Given the description of an element on the screen output the (x, y) to click on. 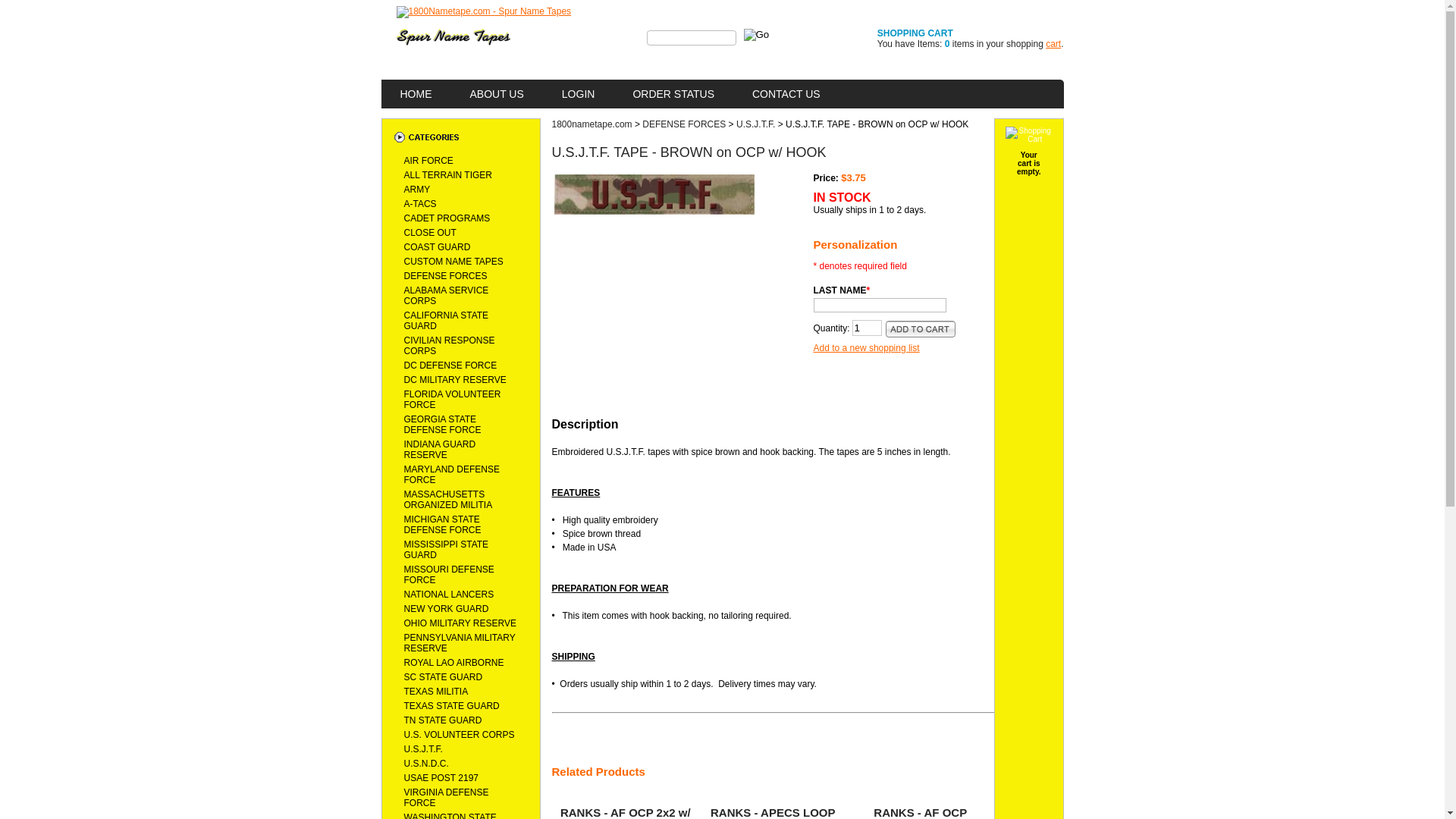
PENNSYLVANIA MILITARY RESERVE Element type: text (458, 642)
DEFENSE FORCES Element type: text (683, 123)
cart Element type: text (1052, 43)
1800Nametape.com - Spur Name Tapes Element type: hover (452, 36)
U.S.J.T.F. Element type: text (422, 748)
1800Nametape.com - Spur Name Tapes Element type: hover (483, 12)
HOME Element type: text (415, 93)
MICHIGAN STATE DEFENSE FORCE Element type: text (441, 524)
CALIFORNIA STATE GUARD Element type: text (445, 320)
DC DEFENSE FORCE Element type: text (449, 365)
CLOSE OUT Element type: text (429, 232)
usjtf tape with brown thread on OCP and hook backing  Element type: hover (653, 194)
COAST GUARD Element type: text (436, 246)
ALL TERRAIN TIGER Element type: text (447, 174)
FLORIDA VOLUNTEER FORCE Element type: text (451, 399)
USAE POST 2197 Element type: text (440, 777)
OHIO MILITARY RESERVE Element type: text (459, 623)
ARMY Element type: text (416, 189)
CUSTOM NAME TAPES Element type: text (452, 261)
NATIONAL LANCERS Element type: text (448, 594)
TEXAS STATE GUARD Element type: text (450, 705)
ALABAMA SERVICE CORPS Element type: text (445, 295)
MISSOURI DEFENSE FORCE Element type: text (448, 574)
A-TACS Element type: text (419, 203)
LOGIN Element type: text (578, 93)
U.S. VOLUNTEER CORPS Element type: text (458, 734)
U.S.N.D.C. Element type: text (425, 763)
1800nametape.com Element type: text (592, 123)
DC MILITARY RESERVE Element type: text (454, 379)
CADET PROGRAMS Element type: text (446, 218)
AIR FORCE Element type: text (427, 160)
ROYAL LAO AIRBORNE Element type: text (453, 662)
GEORGIA STATE DEFENSE FORCE Element type: text (441, 424)
MARYLAND DEFENSE FORCE Element type: text (450, 474)
ORDER STATUS Element type: text (673, 93)
VIRGINIA DEFENSE FORCE Element type: text (445, 797)
SC STATE GUARD Element type: text (442, 676)
Add to a new shopping list Element type: text (903, 347)
U.S.J.T.F. Element type: text (755, 123)
MISSISSIPPI STATE GUARD Element type: text (445, 549)
CIVILIAN RESPONSE CORPS Element type: text (448, 345)
DEFENSE FORCES Element type: text (444, 275)
TN STATE GUARD Element type: text (442, 720)
TEXAS MILITIA Element type: text (435, 691)
ABOUT US Element type: text (496, 93)
MASSACHUSETTS ORGANIZED MILITIA Element type: text (447, 499)
CONTACT US Element type: text (786, 93)
NEW YORK GUARD Element type: text (445, 608)
INDIANA GUARD RESERVE Element type: text (439, 449)
